Given the description of an element on the screen output the (x, y) to click on. 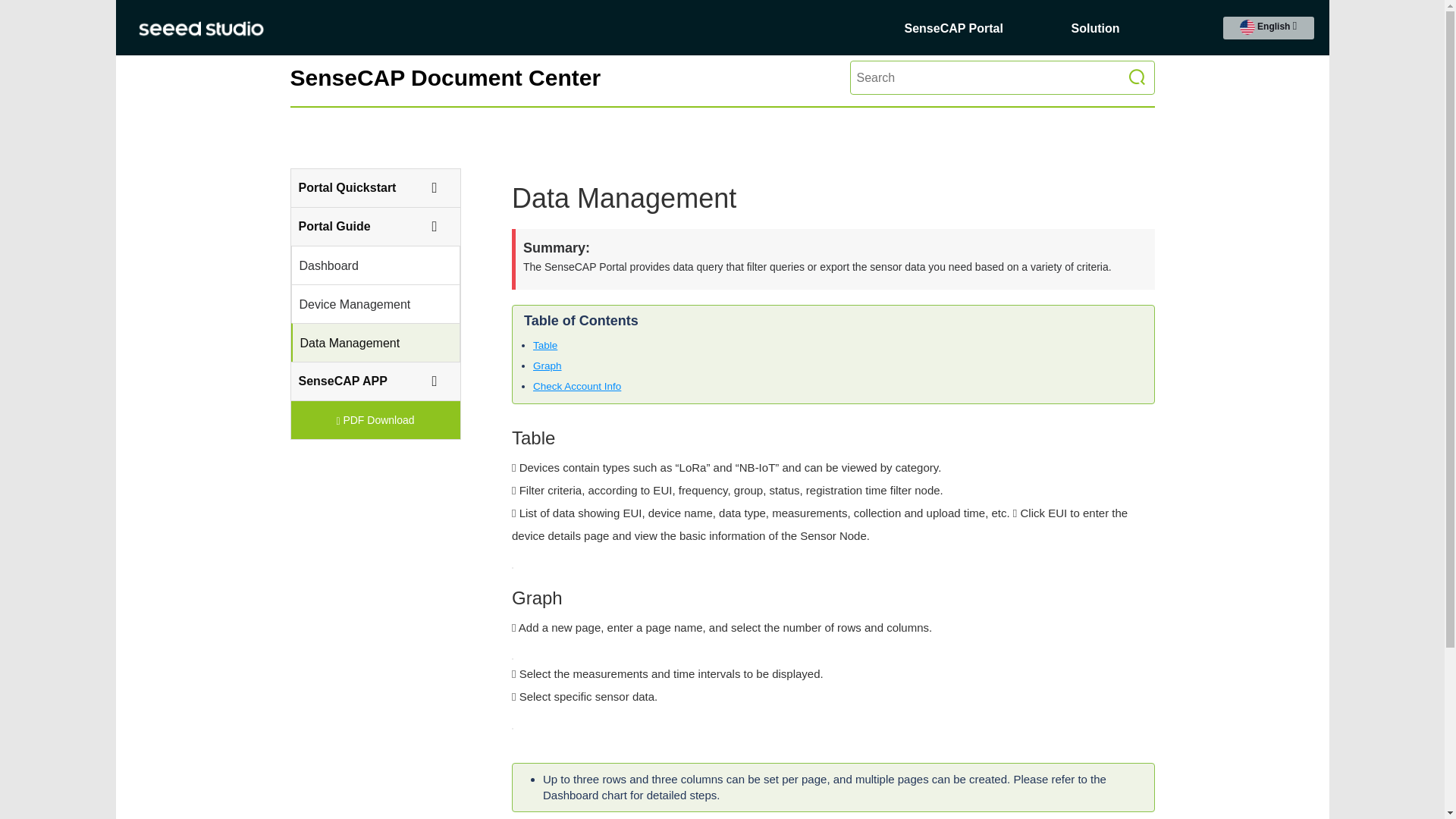
Portal Guide Element type: text (368, 226)
Check Account Info Element type: text (577, 386)
Graph Element type: text (547, 365)
Data Management Element type: text (368, 342)
Device Management Element type: text (367, 304)
PDF Download Element type: text (375, 420)
SenseCAP Document Center Element type: text (444, 77)
Table Element type: text (545, 345)
SenseCAP APP Element type: text (368, 381)
Portal Quickstart Element type: text (368, 187)
Dashboard Element type: text (367, 264)
